Given the description of an element on the screen output the (x, y) to click on. 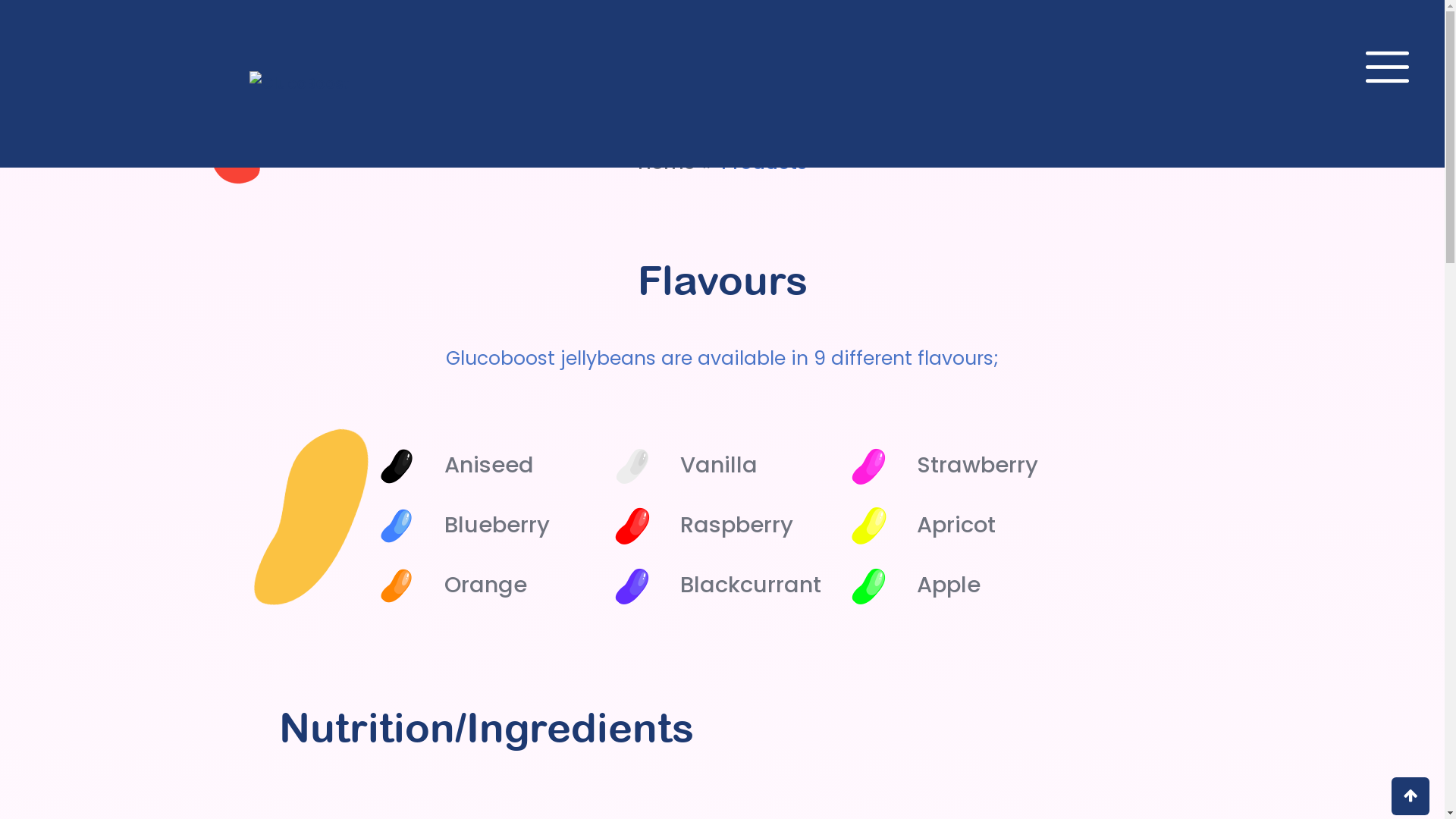
Skip to content Element type: text (0, 0)
Home Element type: text (666, 162)
